Given the description of an element on the screen output the (x, y) to click on. 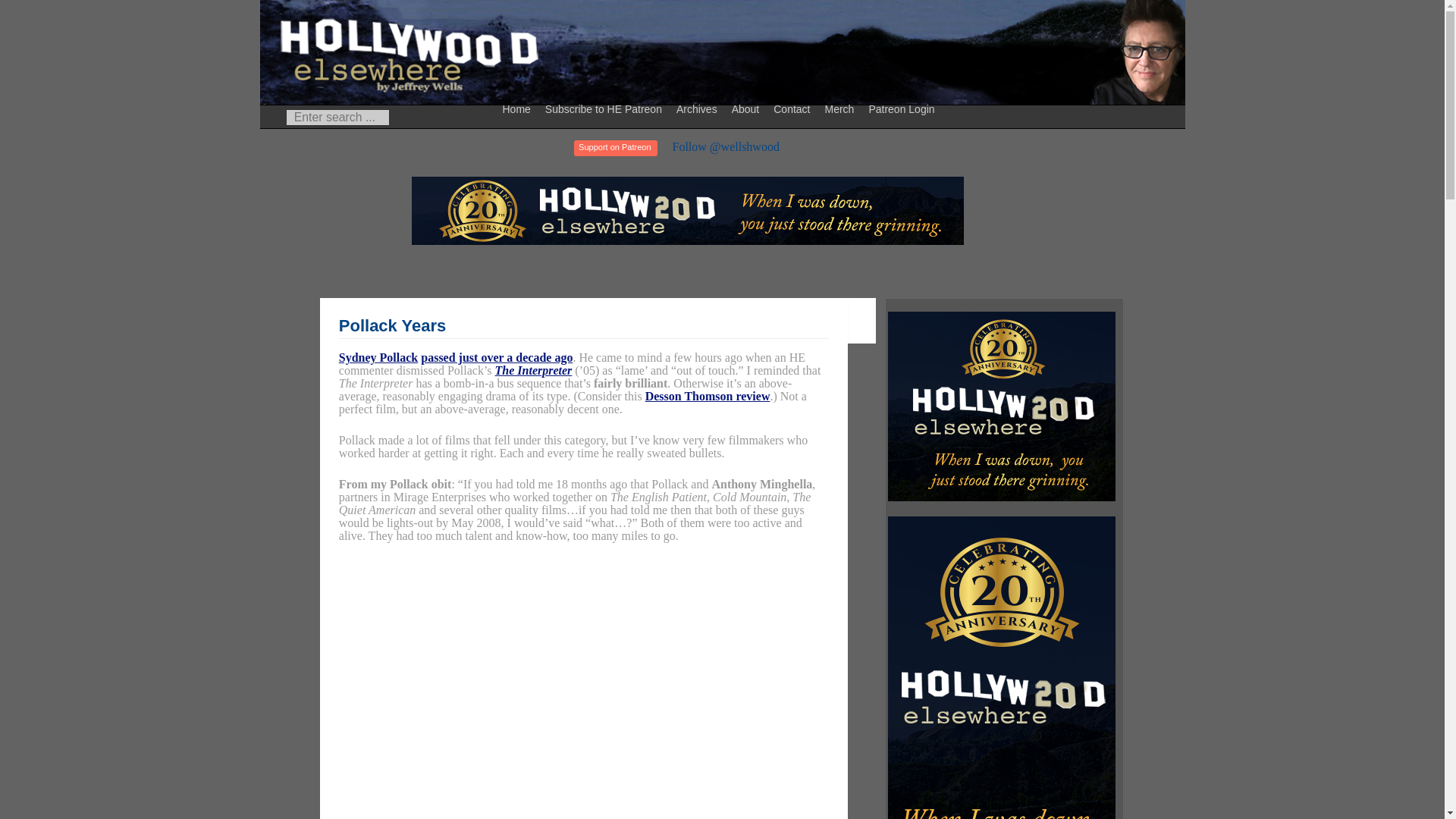
The Interpreter (533, 369)
Merch (841, 108)
Subscribe to HE Patreon (605, 108)
Contact (793, 108)
Home (519, 108)
Desson Thomson review (707, 395)
passed just over a decade ago (496, 357)
Support on Patreon (614, 148)
Pollack Years (392, 325)
Sydney Pollack (378, 357)
Archives (698, 108)
Permanent Link to Pollack Years (392, 325)
About (747, 108)
